Given the description of an element on the screen output the (x, y) to click on. 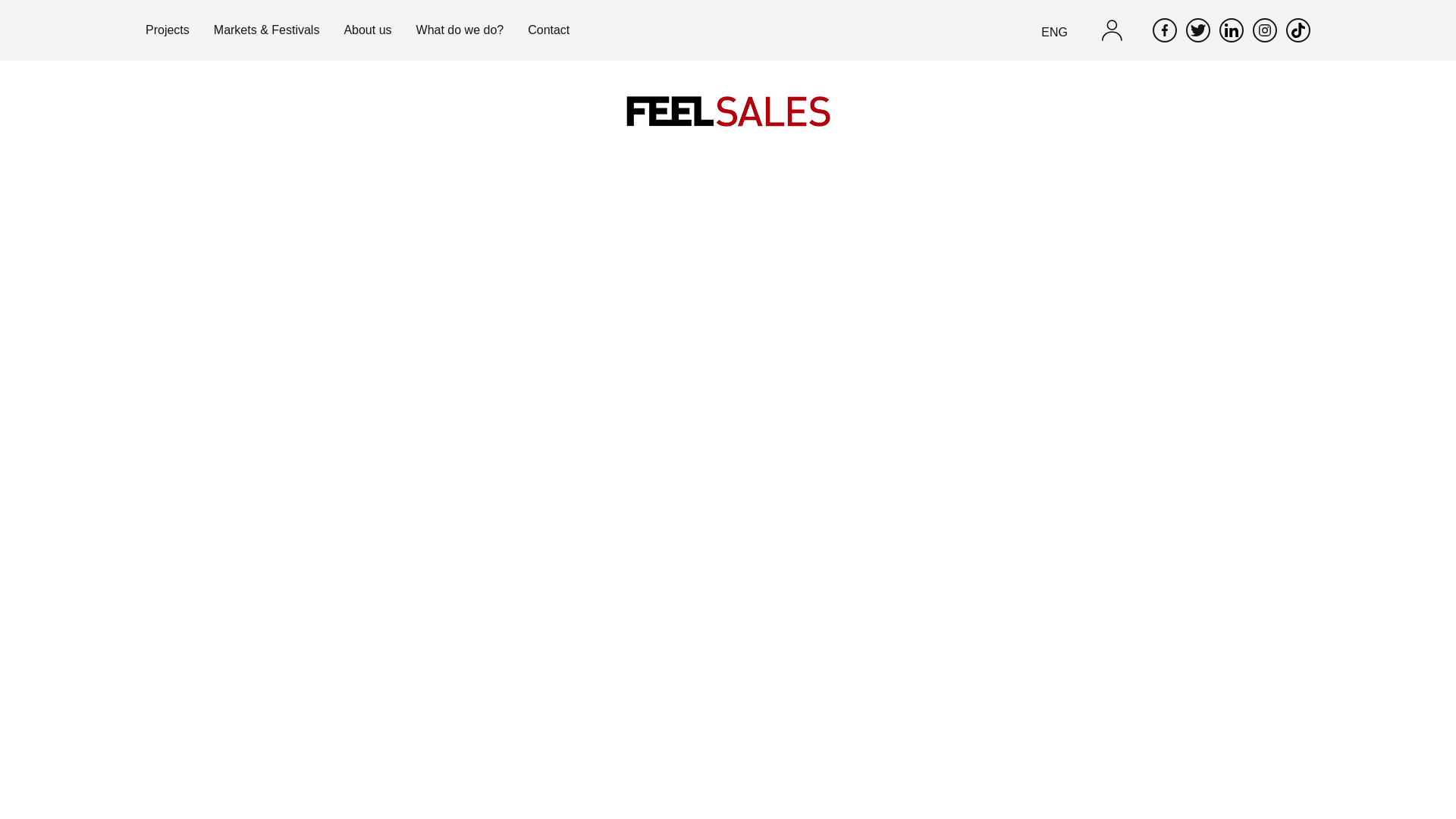
Contact (548, 41)
What do we do? (459, 41)
Projects (167, 41)
ENG (1054, 44)
About us (367, 41)
